Given the description of an element on the screen output the (x, y) to click on. 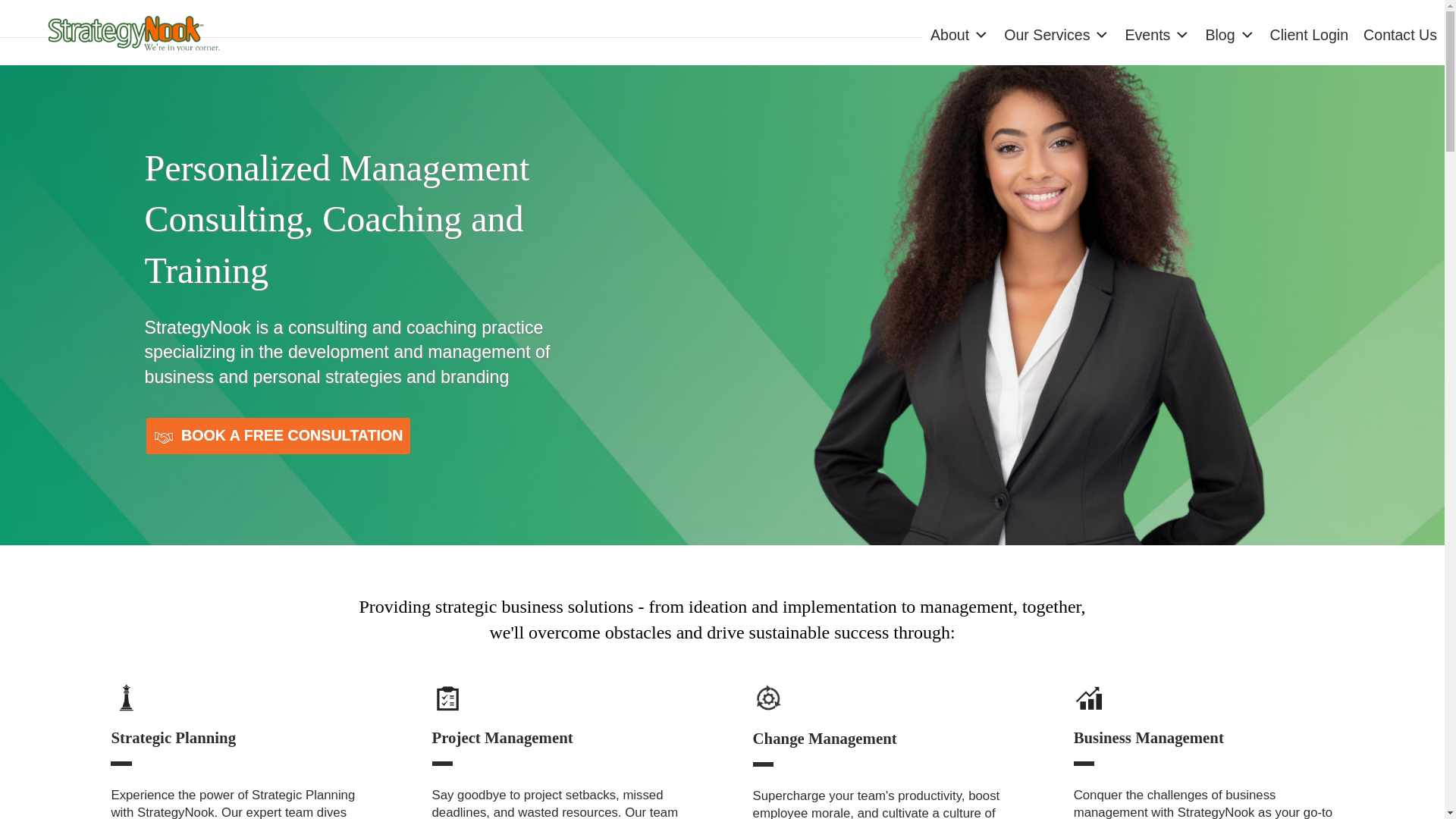
About (959, 40)
Blog (1229, 40)
Events (1156, 40)
StrategyNook (132, 32)
Our Services (1055, 40)
